Given the description of an element on the screen output the (x, y) to click on. 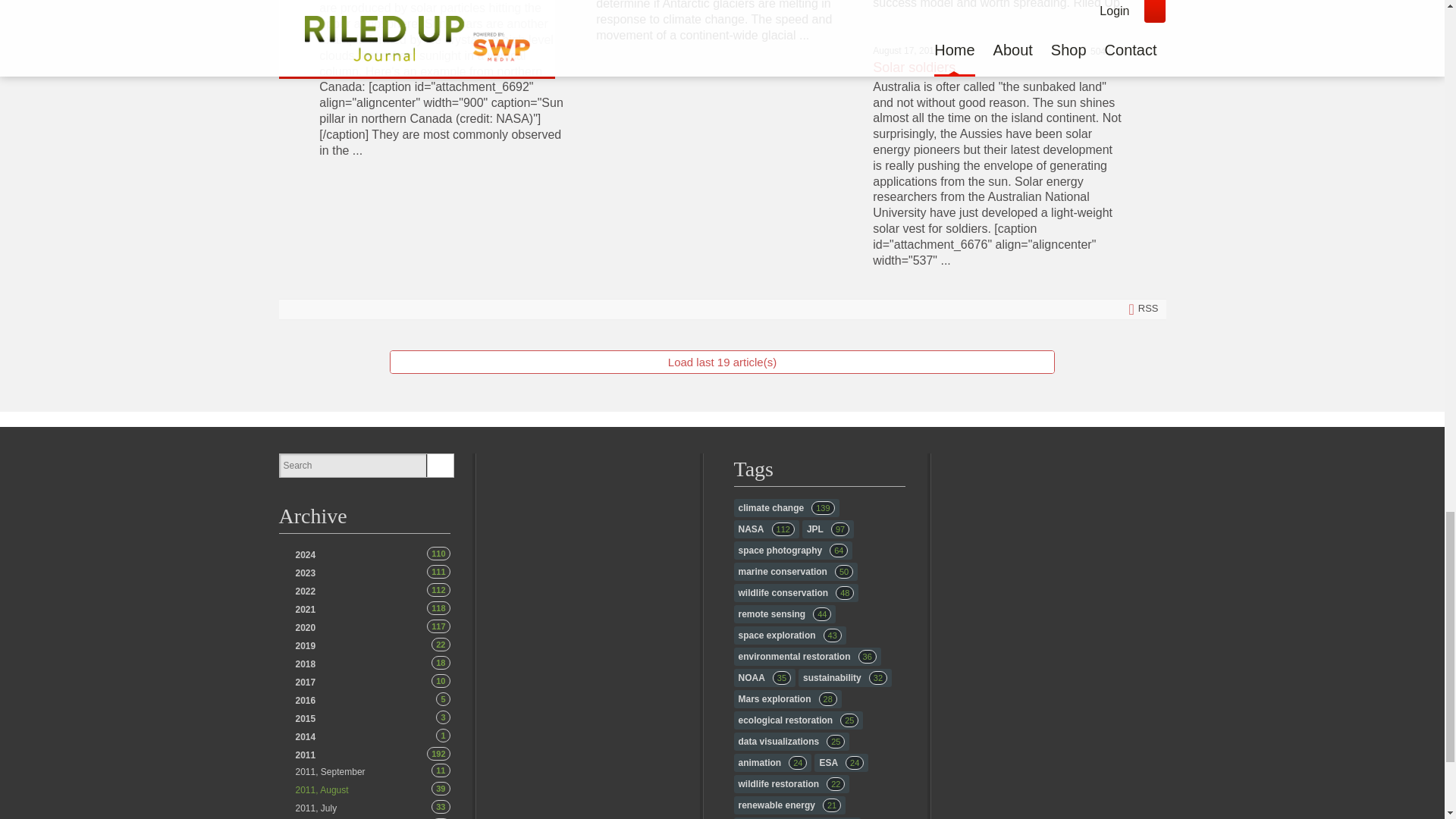
2023 (305, 573)
RSS (722, 309)
2024 (305, 554)
Search (352, 465)
Solar soldiers (305, 554)
